Given the description of an element on the screen output the (x, y) to click on. 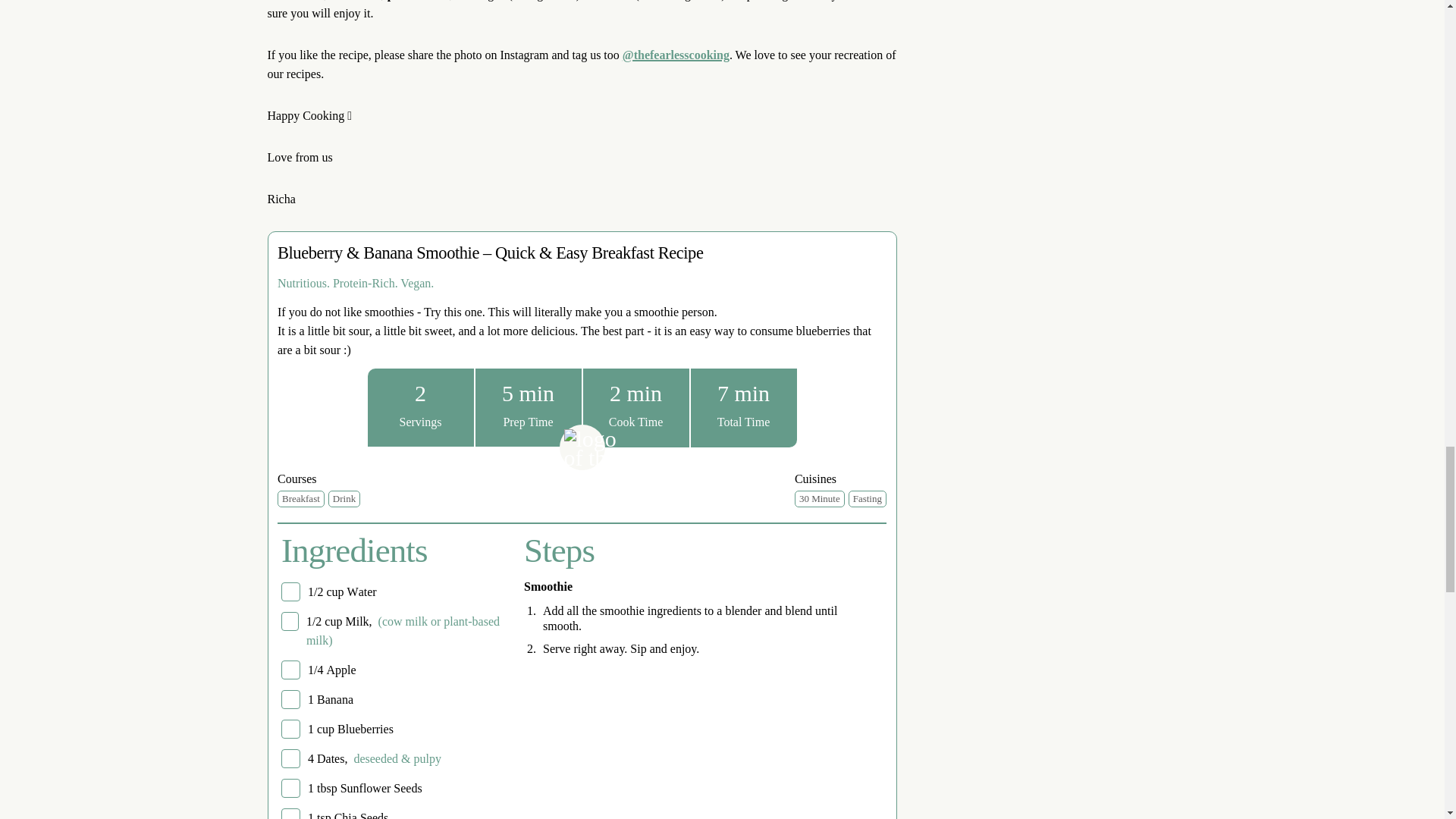
on (290, 758)
Fasting (867, 497)
on (290, 787)
on (290, 813)
on (290, 728)
Drink (344, 497)
on (290, 669)
30 Minute (819, 497)
on (290, 699)
Breakfast (301, 497)
on (289, 620)
on (290, 591)
